Given the description of an element on the screen output the (x, y) to click on. 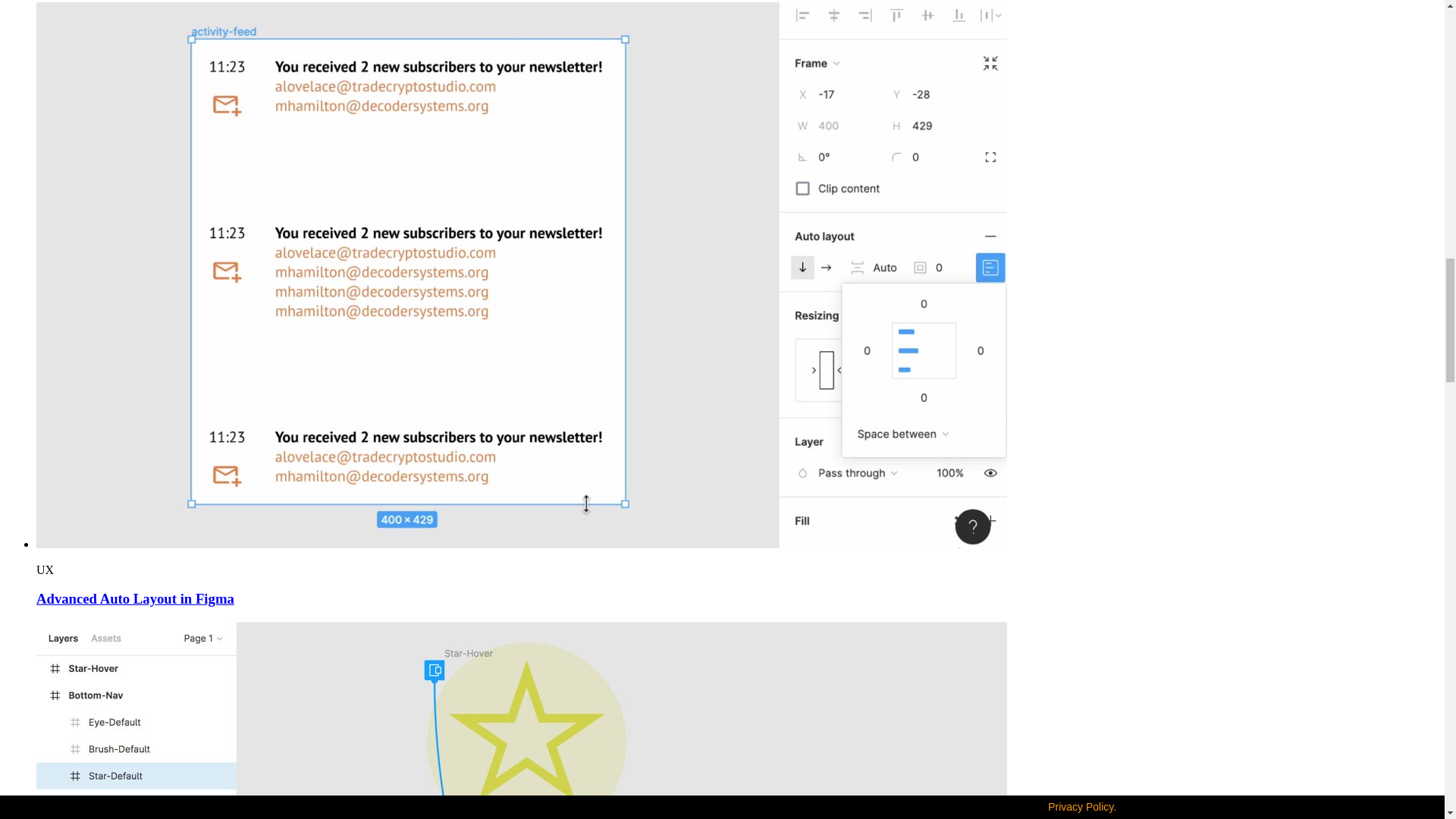
Advanced Auto Layout in Figma (135, 598)
Watch Video (521, 543)
